Given the description of an element on the screen output the (x, y) to click on. 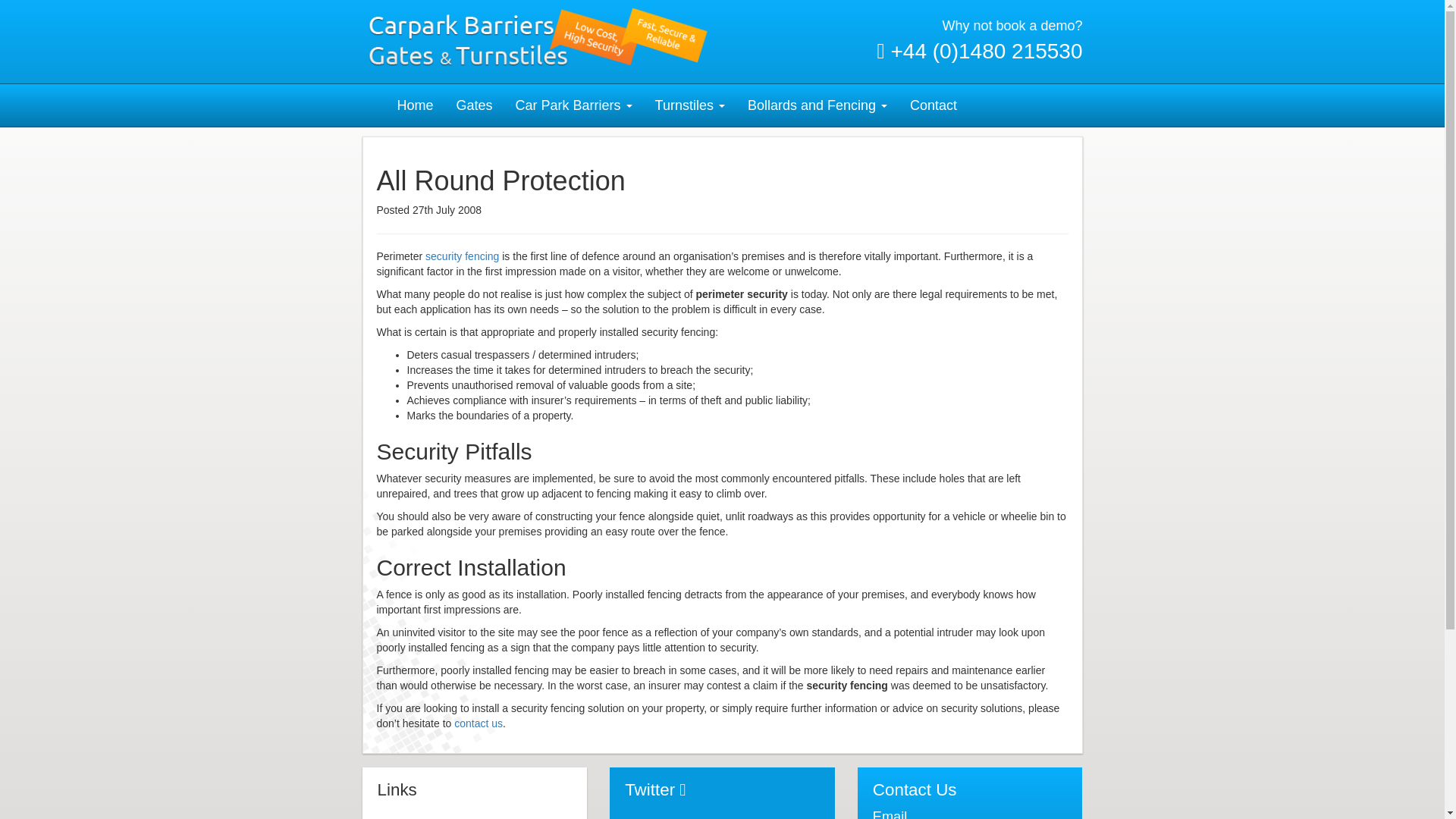
Turnstiles (689, 105)
Gates (474, 105)
Bollards and Fencing (817, 105)
Contact (933, 105)
Gates (474, 105)
Home (414, 105)
Turnstiles (689, 105)
Contact (933, 105)
Privacy Policy (410, 818)
security fencing (462, 256)
Car Park Barriers (573, 105)
contact us (478, 723)
Bollards and Fencing (817, 105)
Home (414, 105)
Car Park Barriers (573, 105)
